Given the description of an element on the screen output the (x, y) to click on. 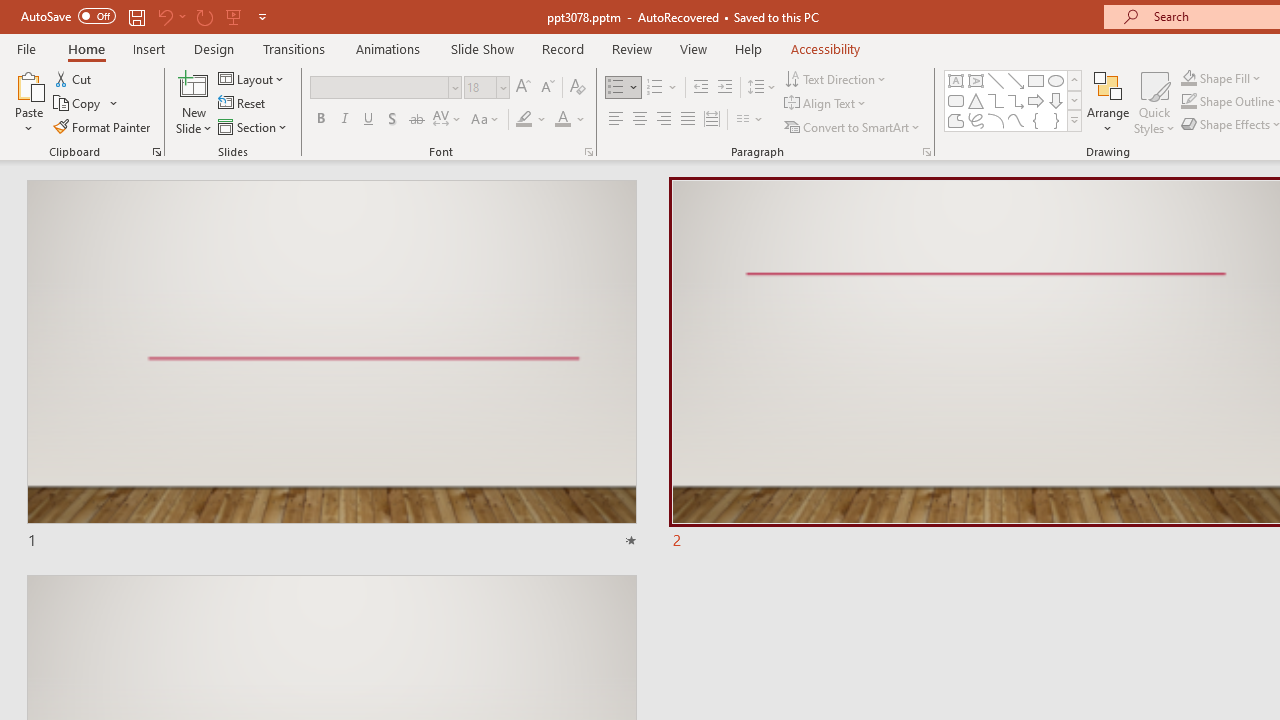
Row Down (1074, 100)
Help (748, 48)
Section (254, 126)
Accessibility (825, 48)
Row up (1074, 79)
Freeform: Scribble (975, 120)
Format Painter (103, 126)
Font... (588, 151)
Office Clipboard... (156, 151)
Record (562, 48)
Animations (388, 48)
Freeform: Shape (955, 120)
